Given the description of an element on the screen output the (x, y) to click on. 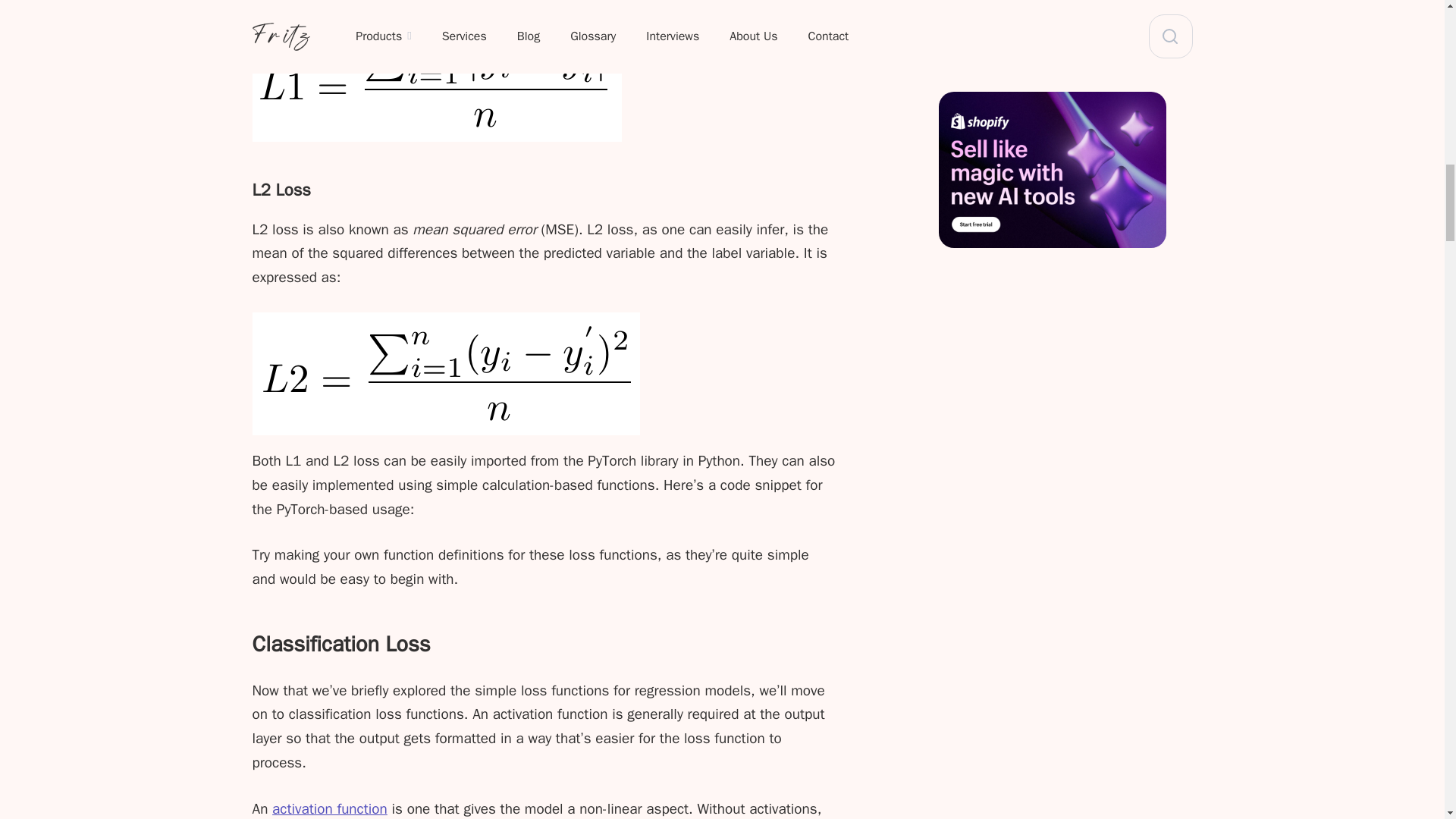
activation function (329, 809)
